Given the description of an element on the screen output the (x, y) to click on. 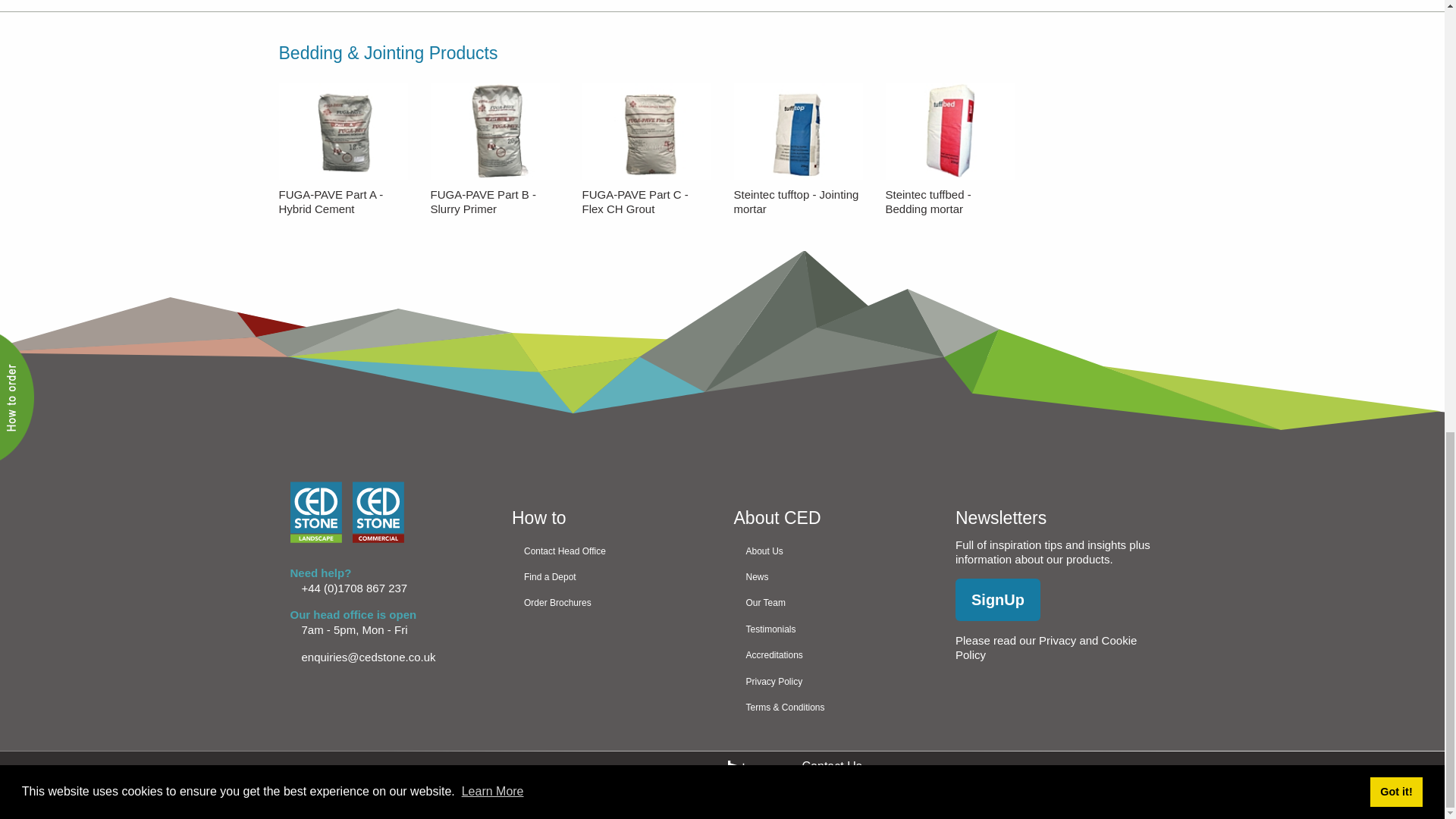
Head Office (833, 680)
Head Office (833, 576)
Head Office (611, 576)
Head Office (611, 550)
Head Office (833, 550)
Head Office (833, 707)
subscribe to CED Stone newsletter (998, 599)
Head Office (833, 629)
Head Office (611, 602)
Head Office (833, 655)
Head Office (833, 602)
